Given the description of an element on the screen output the (x, y) to click on. 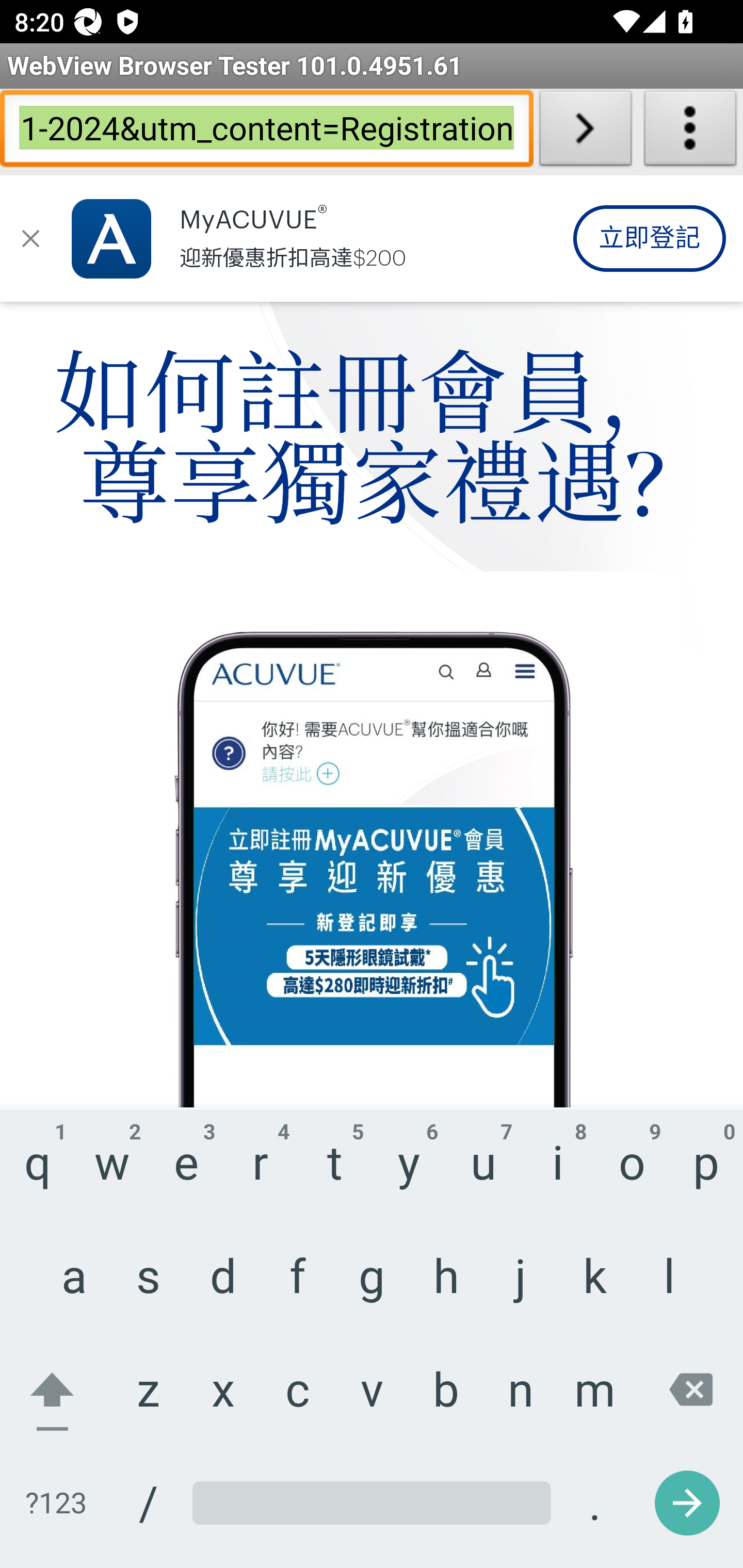
Load URL (585, 132)
About WebView (690, 132)
<br /> (372, 234)
立即登記 (649, 238)
 (30, 238)
myacuvue-iphone-pages_20230612_v02-1_5 (372, 840)
